Given the description of an element on the screen output the (x, y) to click on. 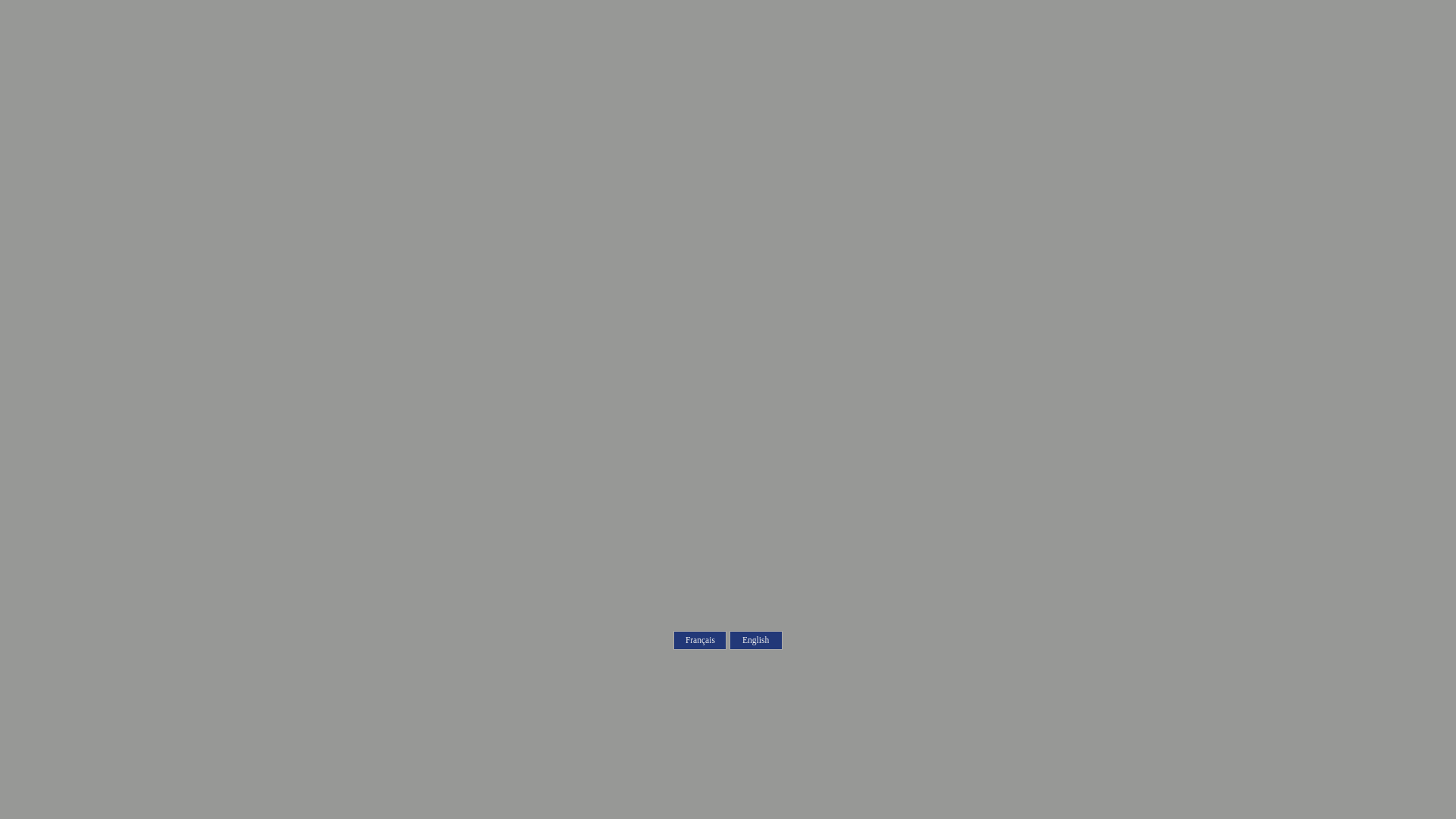
English Element type: text (755, 639)
